Given the description of an element on the screen output the (x, y) to click on. 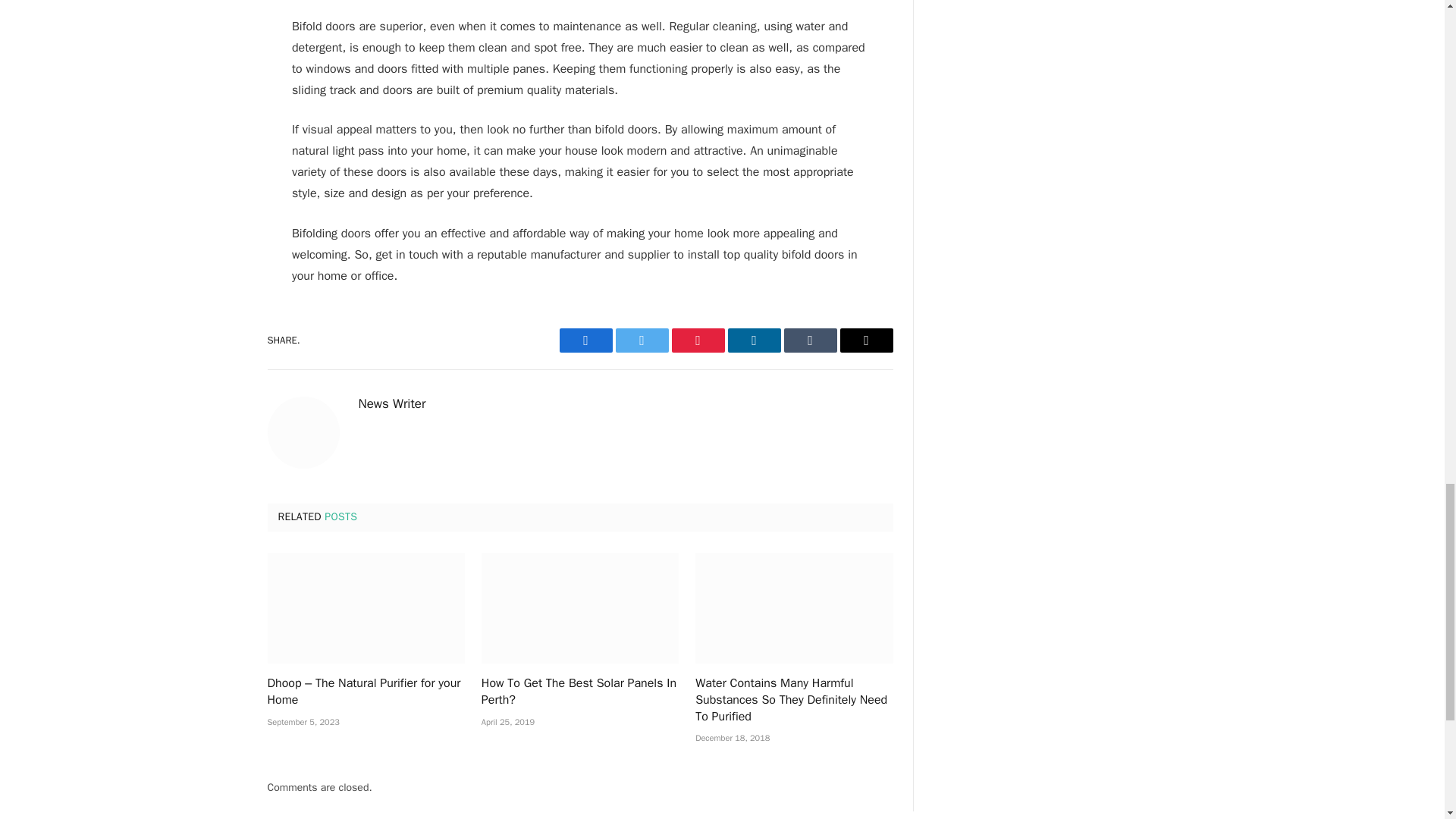
Pinterest (698, 340)
Facebook (585, 340)
Twitter (641, 340)
